Given the description of an element on the screen output the (x, y) to click on. 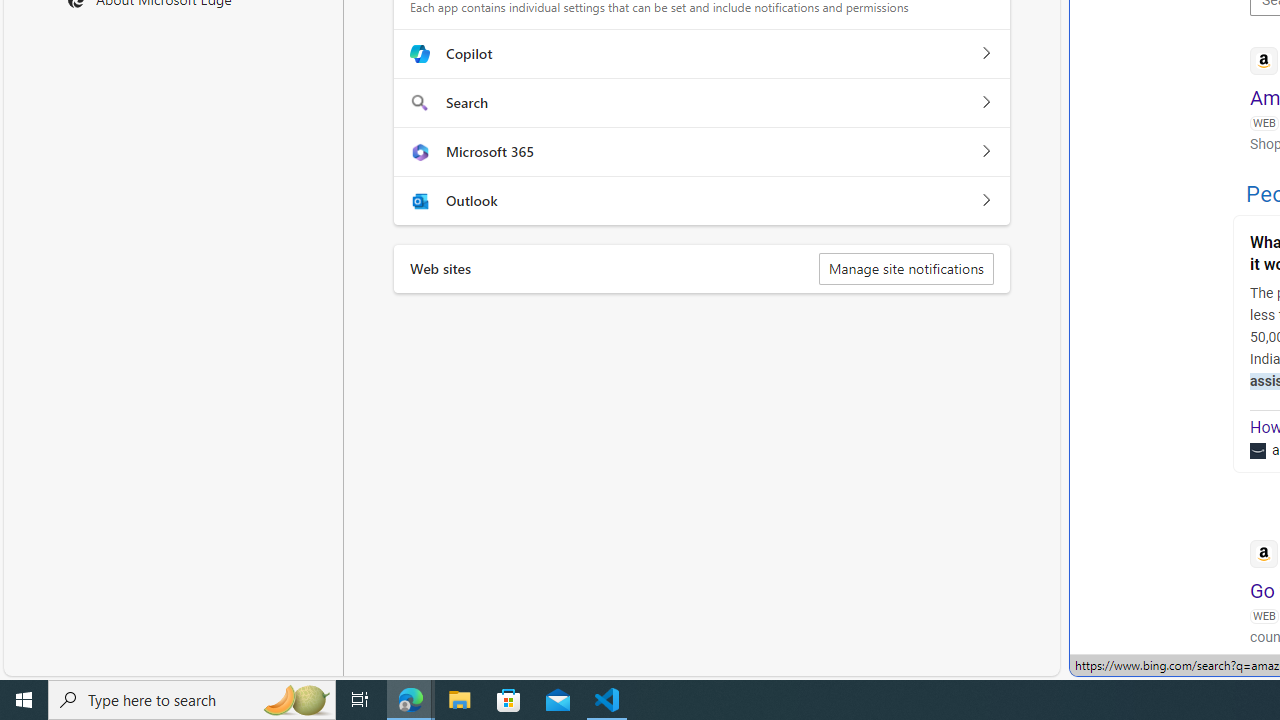
Outlook (985, 200)
Manage site notifications (905, 268)
Global web icon (1263, 554)
Search (985, 102)
Microsoft 365 (985, 151)
Copilot (985, 54)
